Given the description of an element on the screen output the (x, y) to click on. 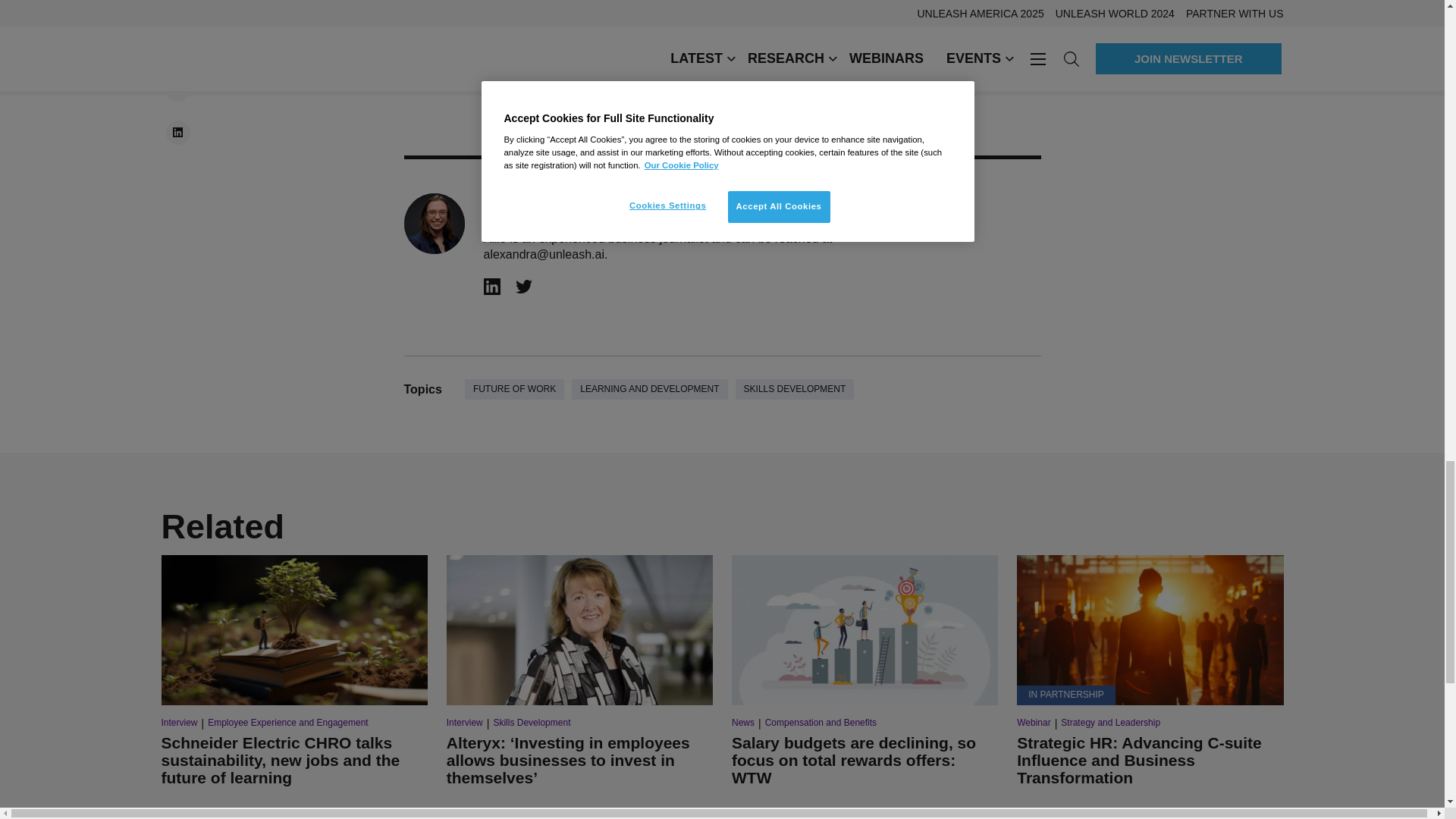
Allie headshot (433, 223)
